Given the description of an element on the screen output the (x, y) to click on. 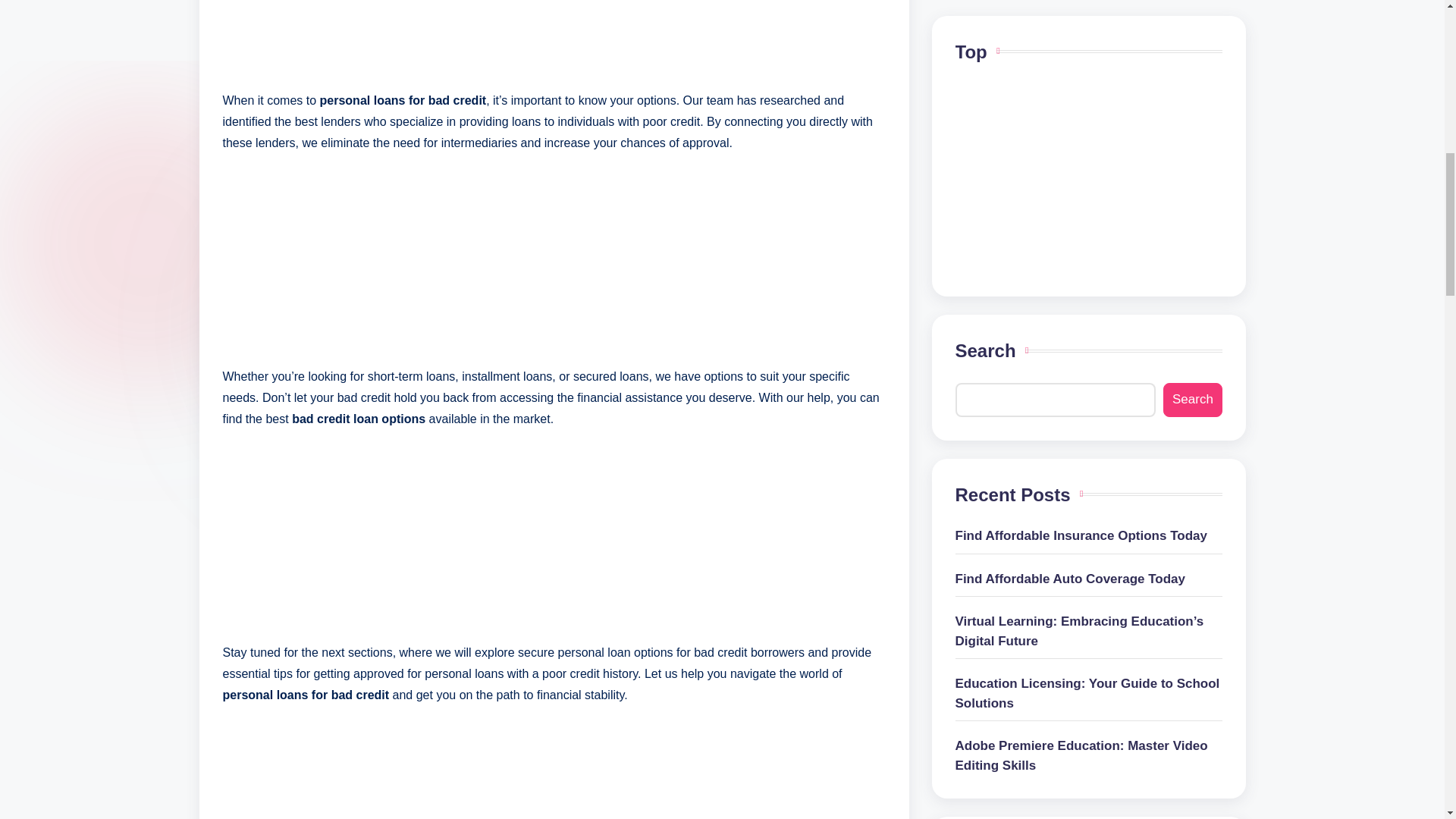
Lifestyle (1089, 657)
Adobe Premiere Education: Master Video Editing Skills (1089, 74)
Education Licensing: Your Guide to School Solutions (1089, 15)
Insurance (1089, 621)
Others (1089, 691)
